Given the description of an element on the screen output the (x, y) to click on. 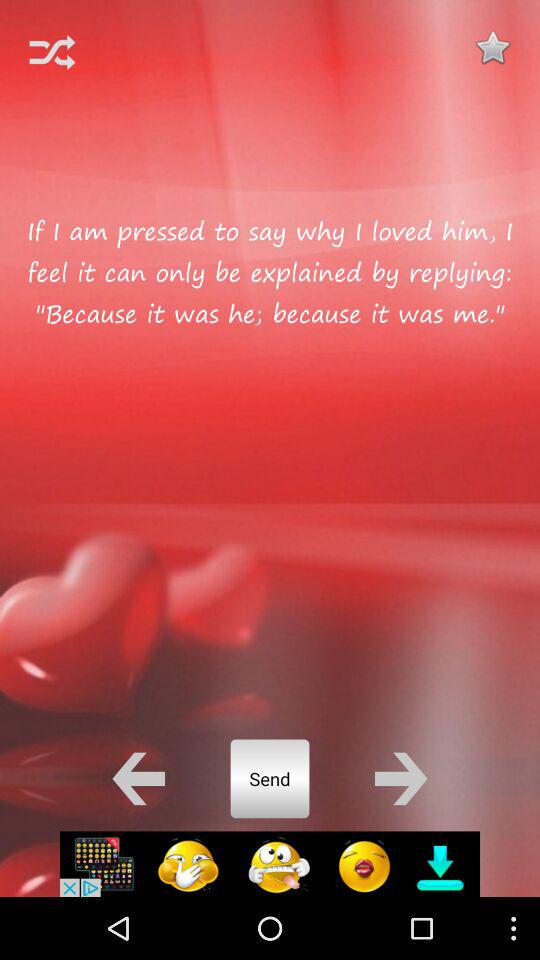
shuffle (52, 52)
